Given the description of an element on the screen output the (x, y) to click on. 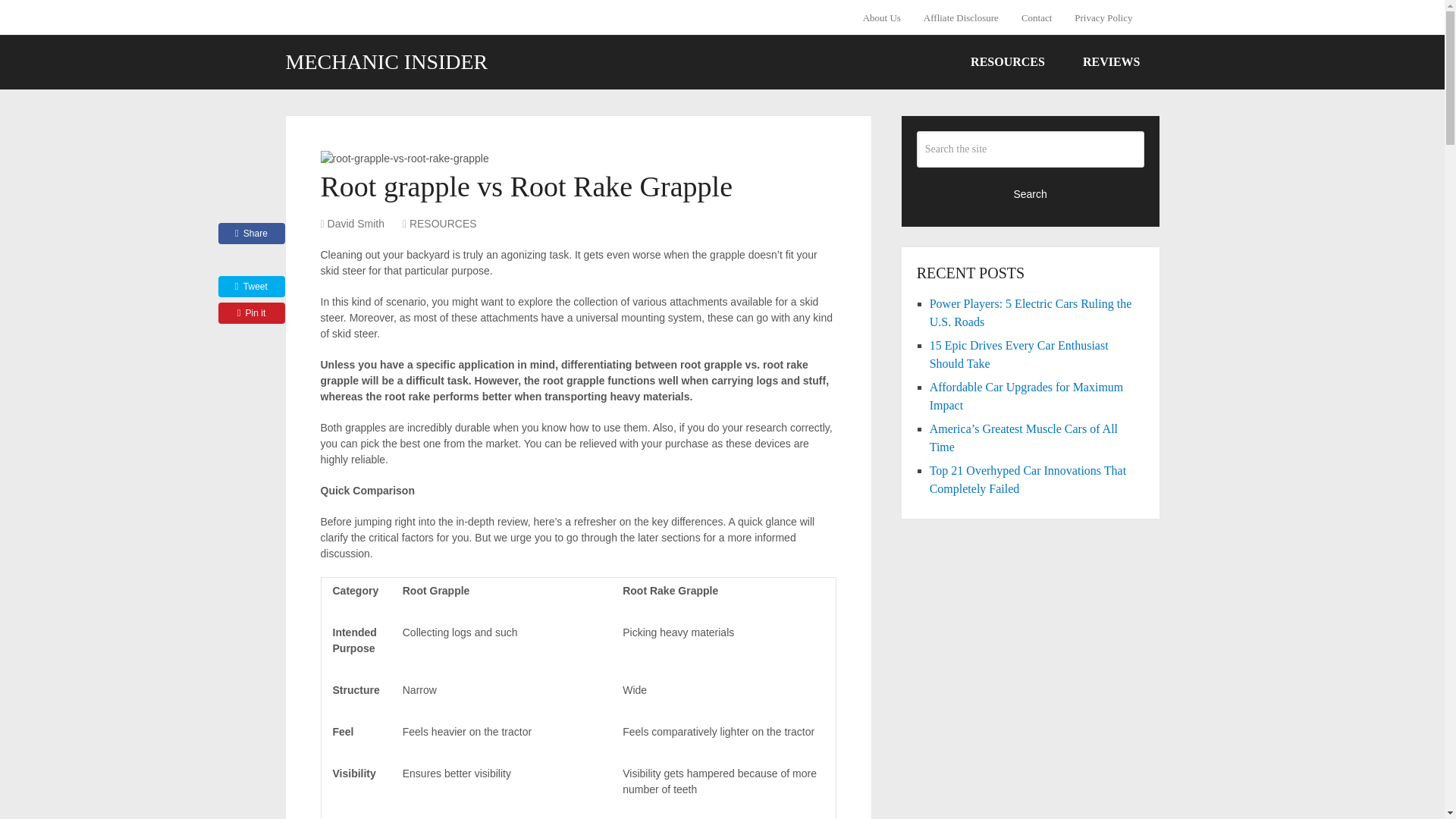
Power Players: 5 Electric Cars Ruling the U.S. Roads (1031, 312)
Share (251, 233)
Posts by David Smith (355, 223)
Pin it (251, 312)
Tweet (251, 286)
View all posts in RESOURCES (443, 223)
Privacy Policy (1102, 17)
REVIEWS (1111, 62)
RESOURCES (1008, 62)
Search (1030, 193)
Contact (1036, 17)
Affliate Disclosure (961, 17)
Affordable Car Upgrades for Maximum Impact (1027, 395)
David Smith (355, 223)
Top 21 Overhyped Car Innovations That Completely Failed (1027, 479)
